Given the description of an element on the screen output the (x, y) to click on. 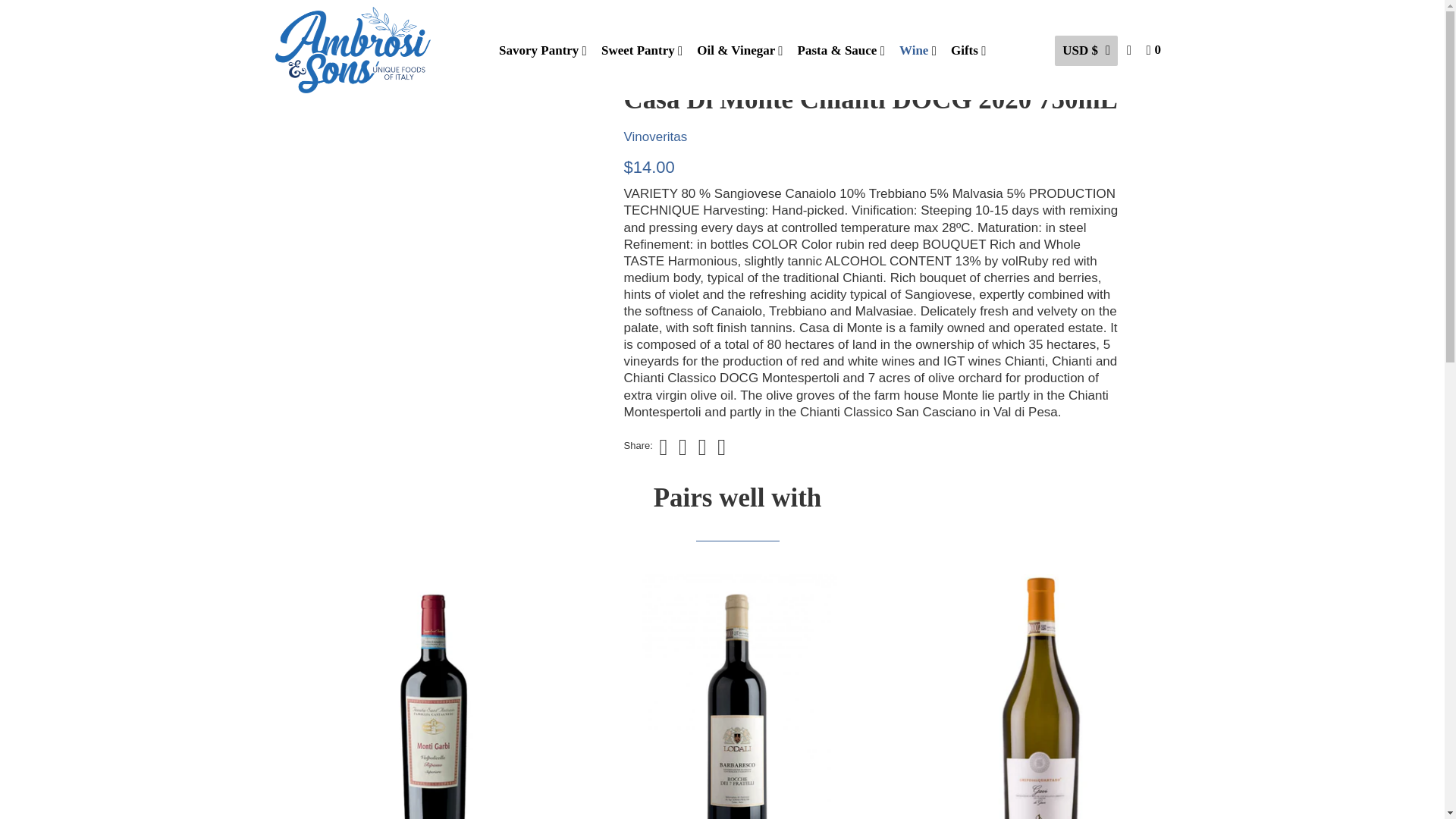
Previous (299, 26)
Vinoveritas (655, 136)
Casa di Monte Chianti DOCG 2020 750mL (445, 238)
Italian Wines (352, 55)
Next (349, 26)
